Given the description of an element on the screen output the (x, y) to click on. 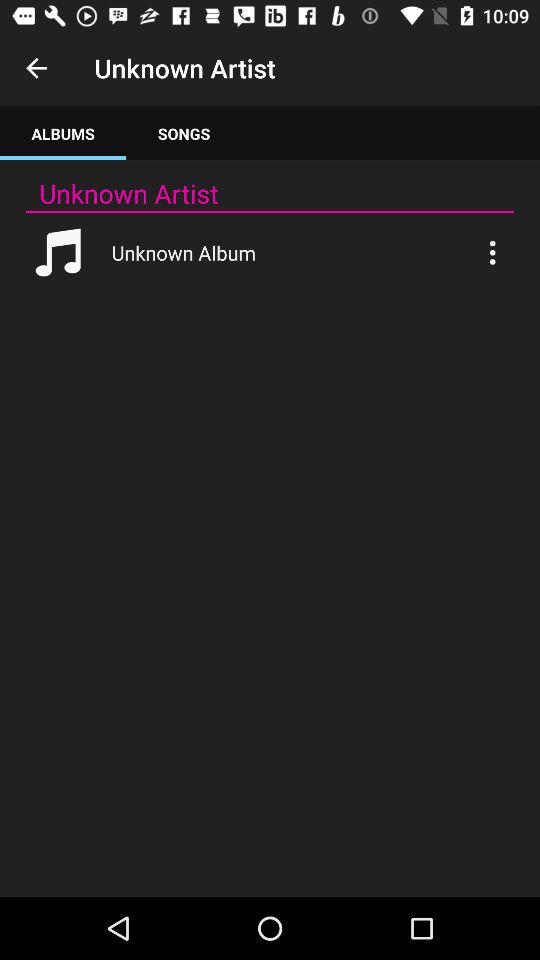
flip until the songs item (183, 133)
